Given the description of an element on the screen output the (x, y) to click on. 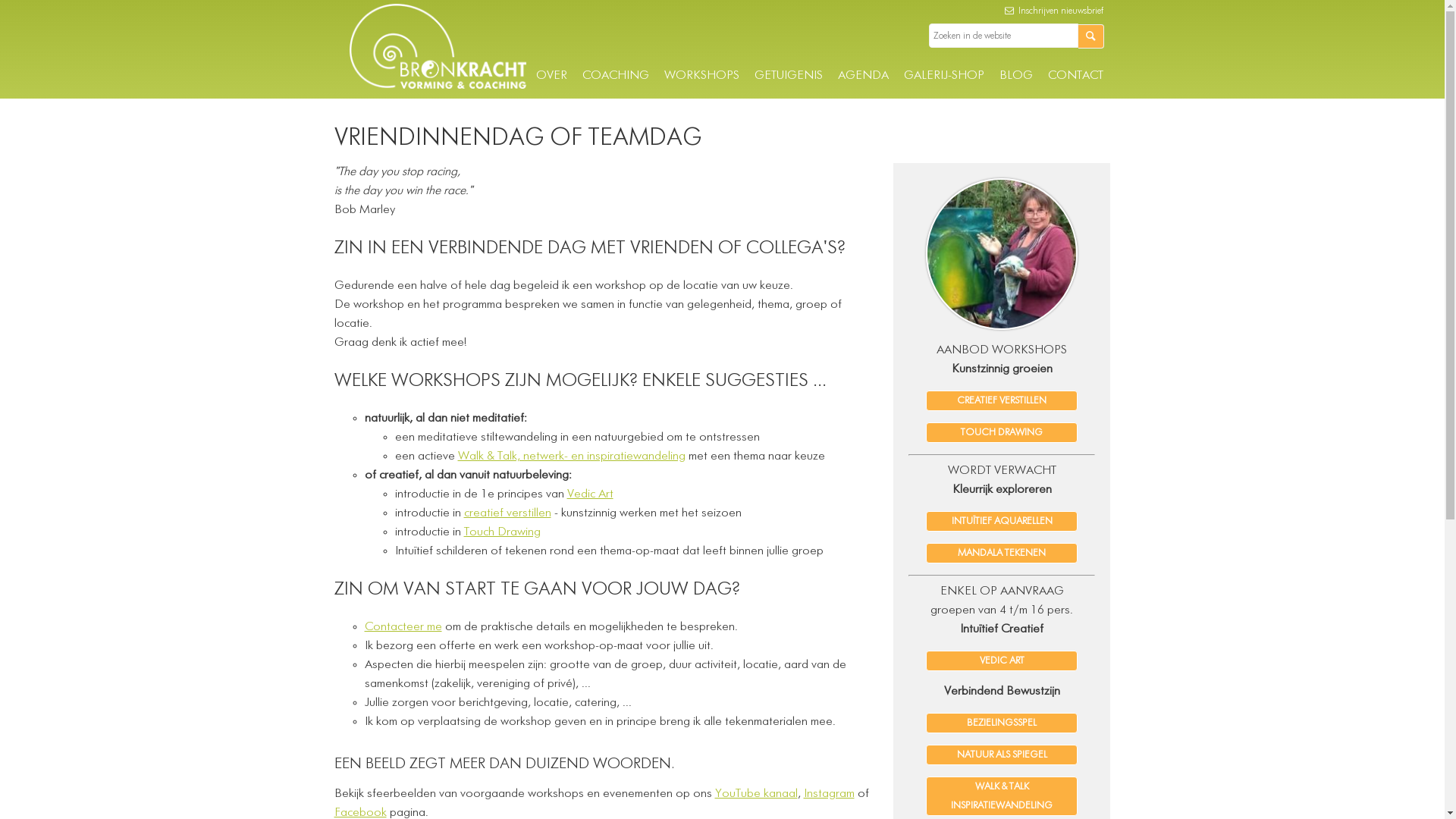
BLOG Element type: text (1015, 75)
Touch Drawing Element type: text (502, 532)
creatief verstillen Element type: text (507, 513)
Bronkracht Element type: hover (436, 85)
GALERIJ-SHOP Element type: text (943, 75)
Walk & Talk, netwerk- en inspiratiewandeling Element type: text (571, 456)
YouTube kanaal Element type: text (755, 793)
Vedic Art Element type: text (590, 494)
MANDALA TEKENEN Element type: text (1001, 552)
AGENDA Element type: text (862, 75)
CREATIEF VERSTILLEN Element type: text (1001, 400)
COACHING Element type: text (615, 75)
WALK & TALK INSPIRATIEWANDELING Element type: text (1001, 795)
Contacteer me Element type: text (402, 627)
NATUUR ALS SPIEGEL Element type: text (1001, 754)
CONTACT Element type: text (1075, 75)
OVER Element type: text (550, 75)
GETUIGENIS Element type: text (787, 75)
WORKSHOPS Element type: text (701, 75)
BEZIELINGSSPEL Element type: text (1001, 722)
TOUCH DRAWING Element type: text (1001, 432)
Instagram Element type: text (828, 793)
VEDIC ART Element type: text (1001, 660)
